Given the description of an element on the screen output the (x, y) to click on. 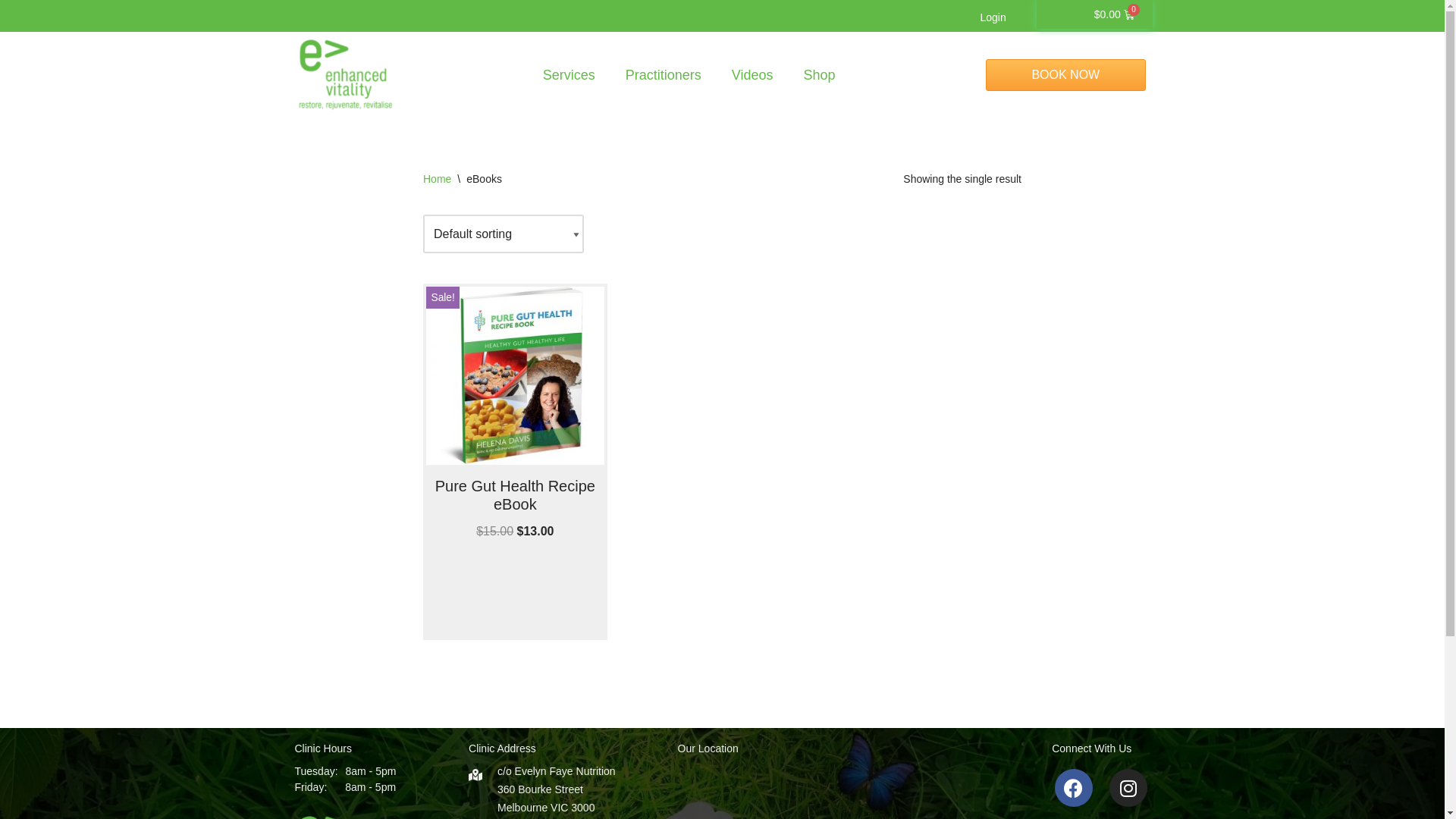
Videos Element type: text (752, 74)
Sale!
Pure Gut Health Recipe eBook
$15.00 $13.00 Element type: text (515, 413)
Services Element type: text (568, 74)
Skip to content Element type: text (11, 31)
$0.00
0 Element type: text (1114, 14)
Shop Element type: text (819, 74)
Login Element type: text (992, 17)
Home Element type: text (437, 178)
BOOK NOW Element type: text (1065, 75)
Practitioners Element type: text (663, 74)
